Given the description of an element on the screen output the (x, y) to click on. 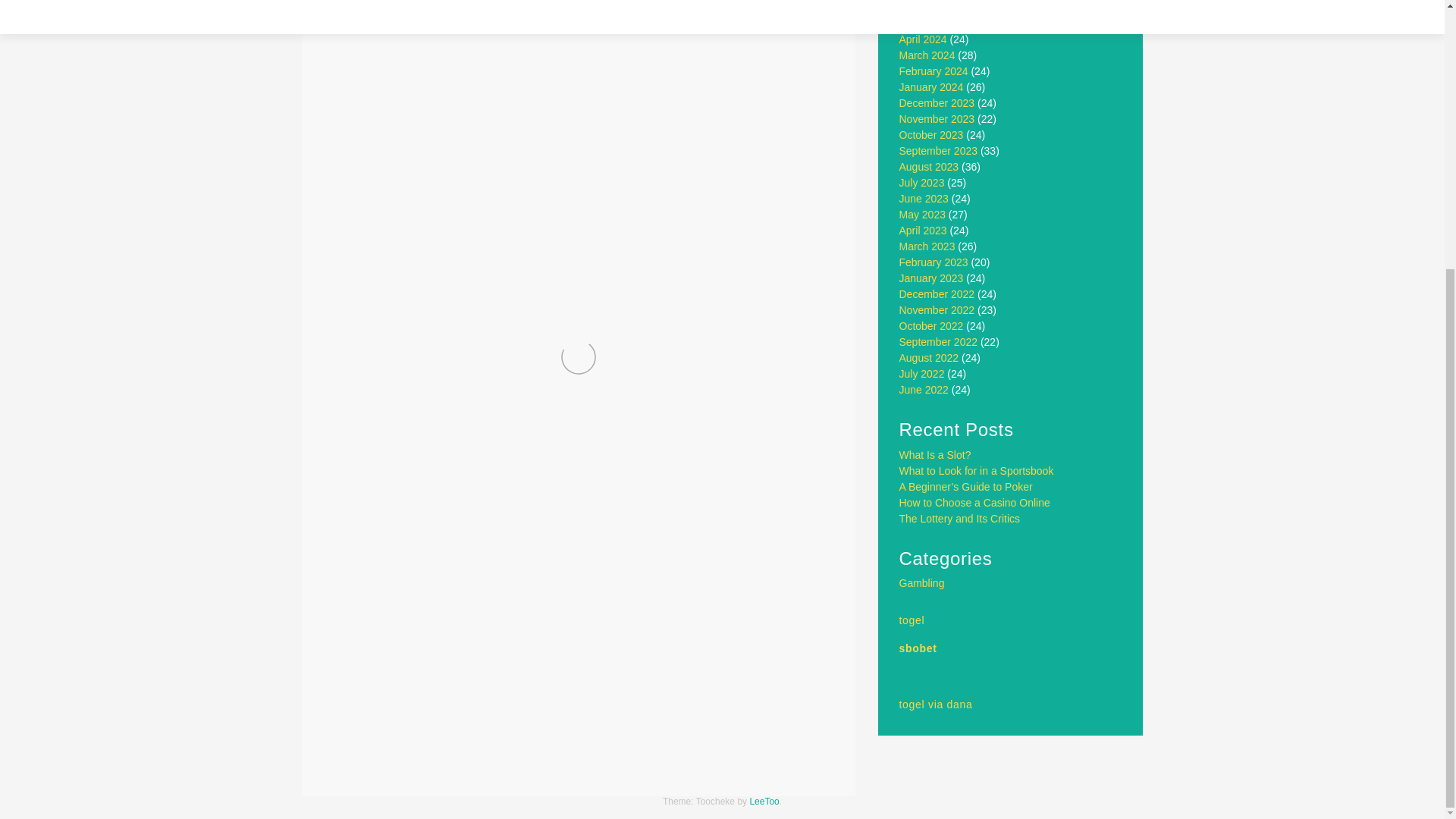
Gambling (403, 701)
Gambling (921, 582)
August 2023 (929, 166)
July 2023 (921, 182)
November 2022 (937, 309)
April 2024 (923, 39)
December 2022 (937, 294)
June 2023 (924, 198)
October 2023 (931, 134)
June 2022 (924, 389)
